Given the description of an element on the screen output the (x, y) to click on. 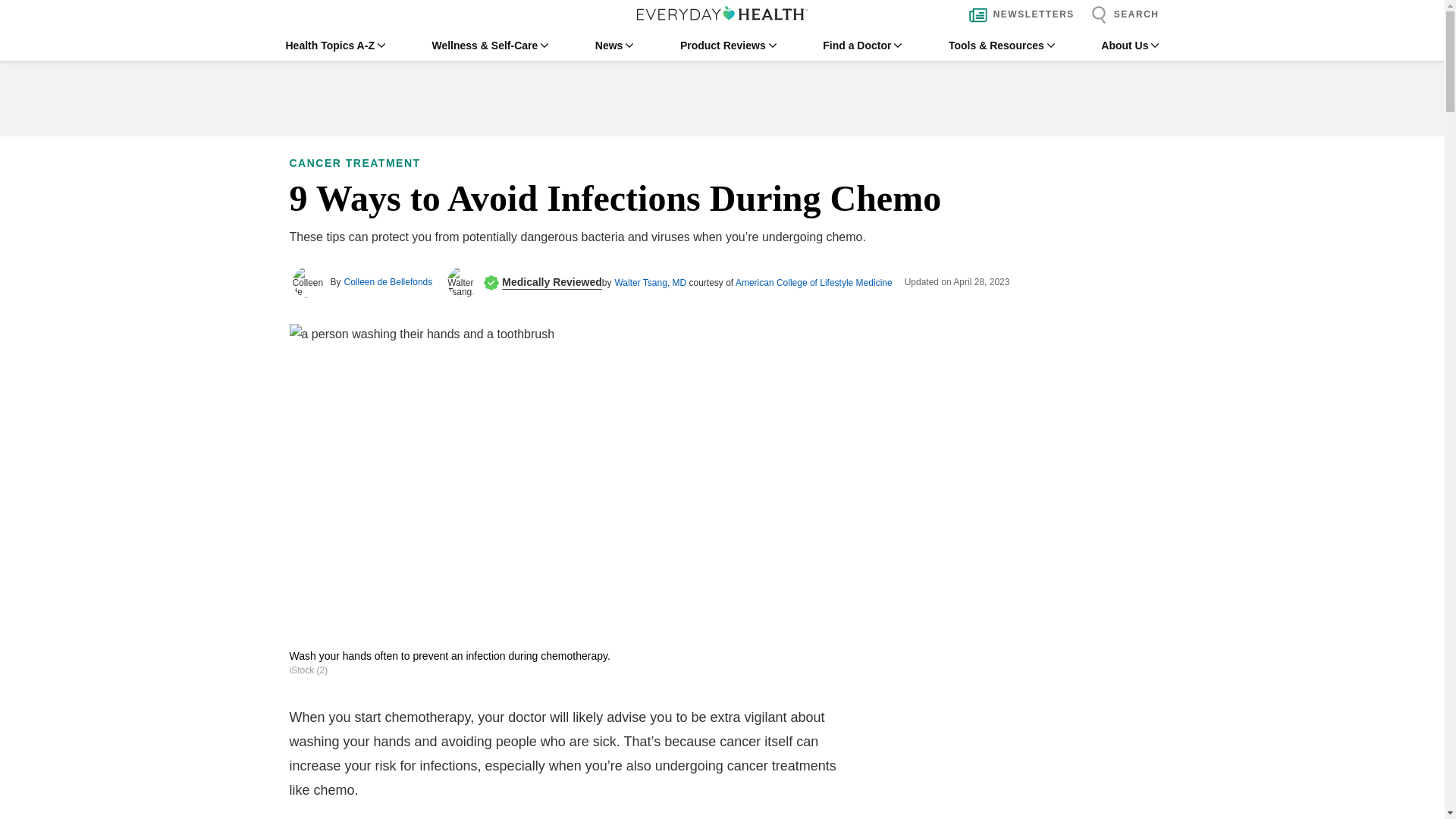
News (614, 45)
Find a Doctor (861, 45)
Product Reviews (727, 45)
About Us (1129, 45)
SEARCH (1120, 15)
NEWSLETTERS (1018, 15)
Health Topics A-Z (334, 45)
